Given the description of an element on the screen output the (x, y) to click on. 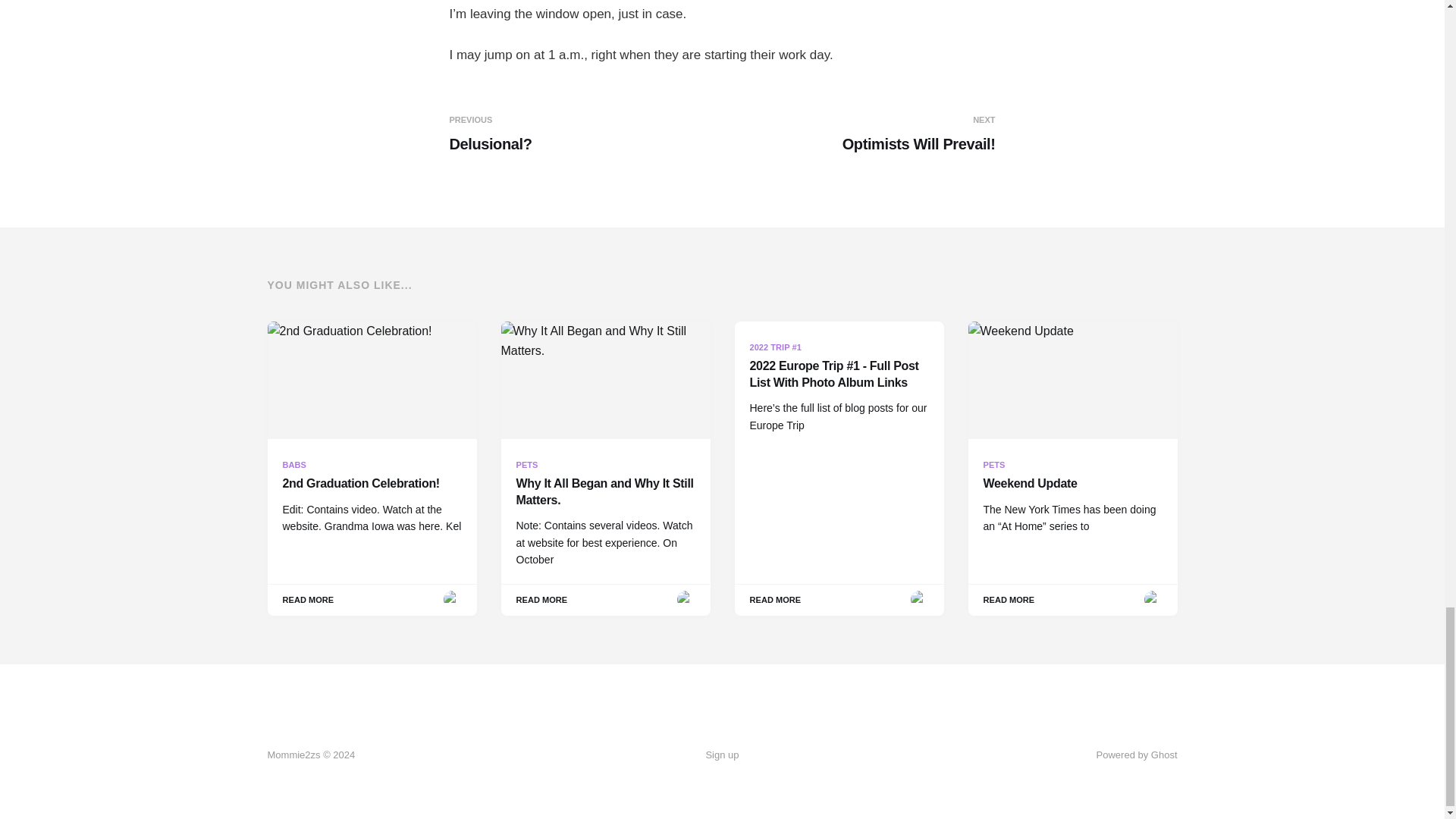
Powered by Ghost (1136, 754)
Sign up (861, 133)
